Given the description of an element on the screen output the (x, y) to click on. 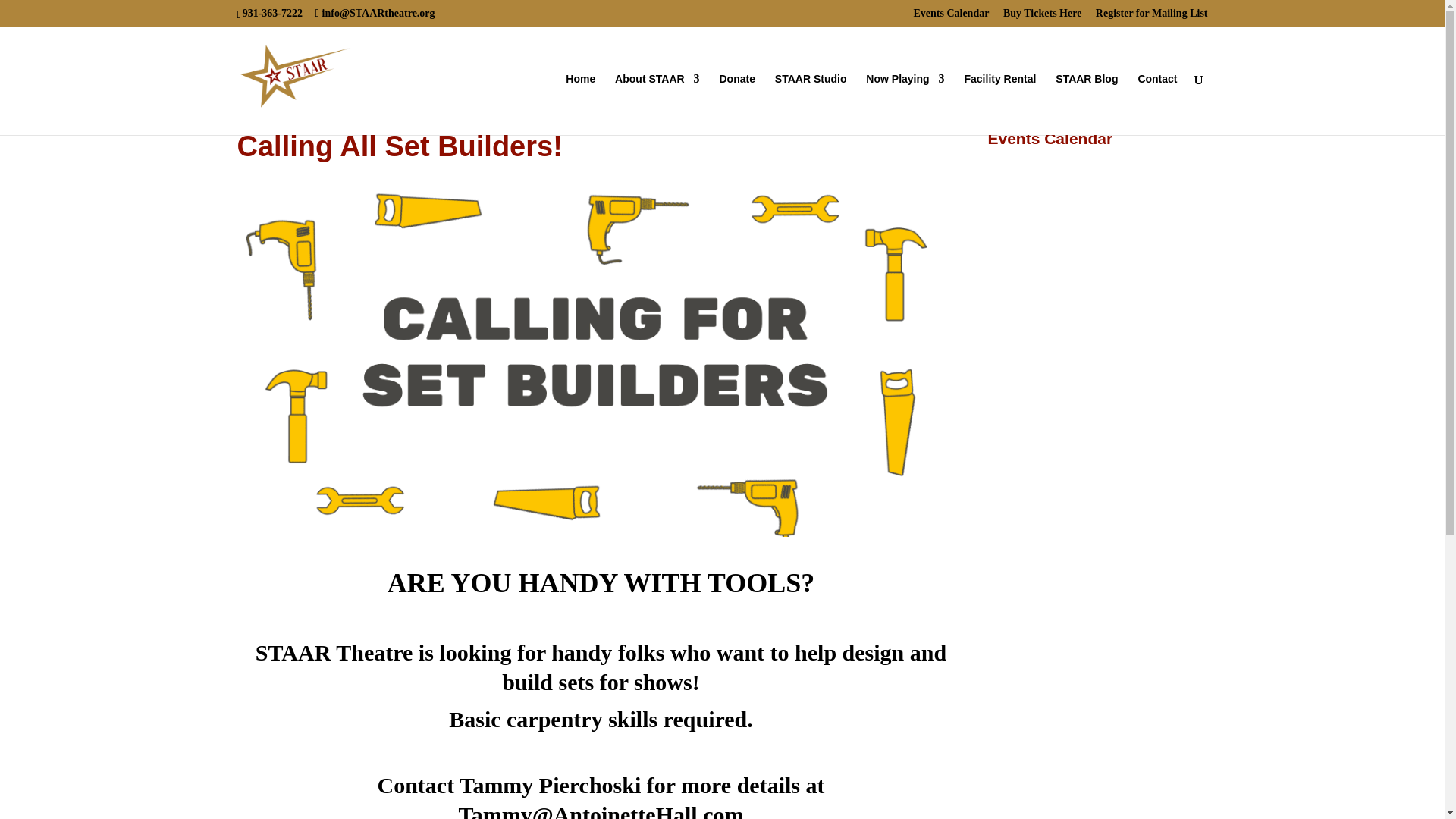
Events Calendar (950, 16)
About STAAR (657, 104)
Facility Rental (999, 104)
Now Playing (904, 104)
STAAR Studio (810, 104)
Buy Tickets Here (1042, 16)
Register for Mailing List (1152, 16)
STAAR Blog (1086, 104)
